Given the description of an element on the screen output the (x, y) to click on. 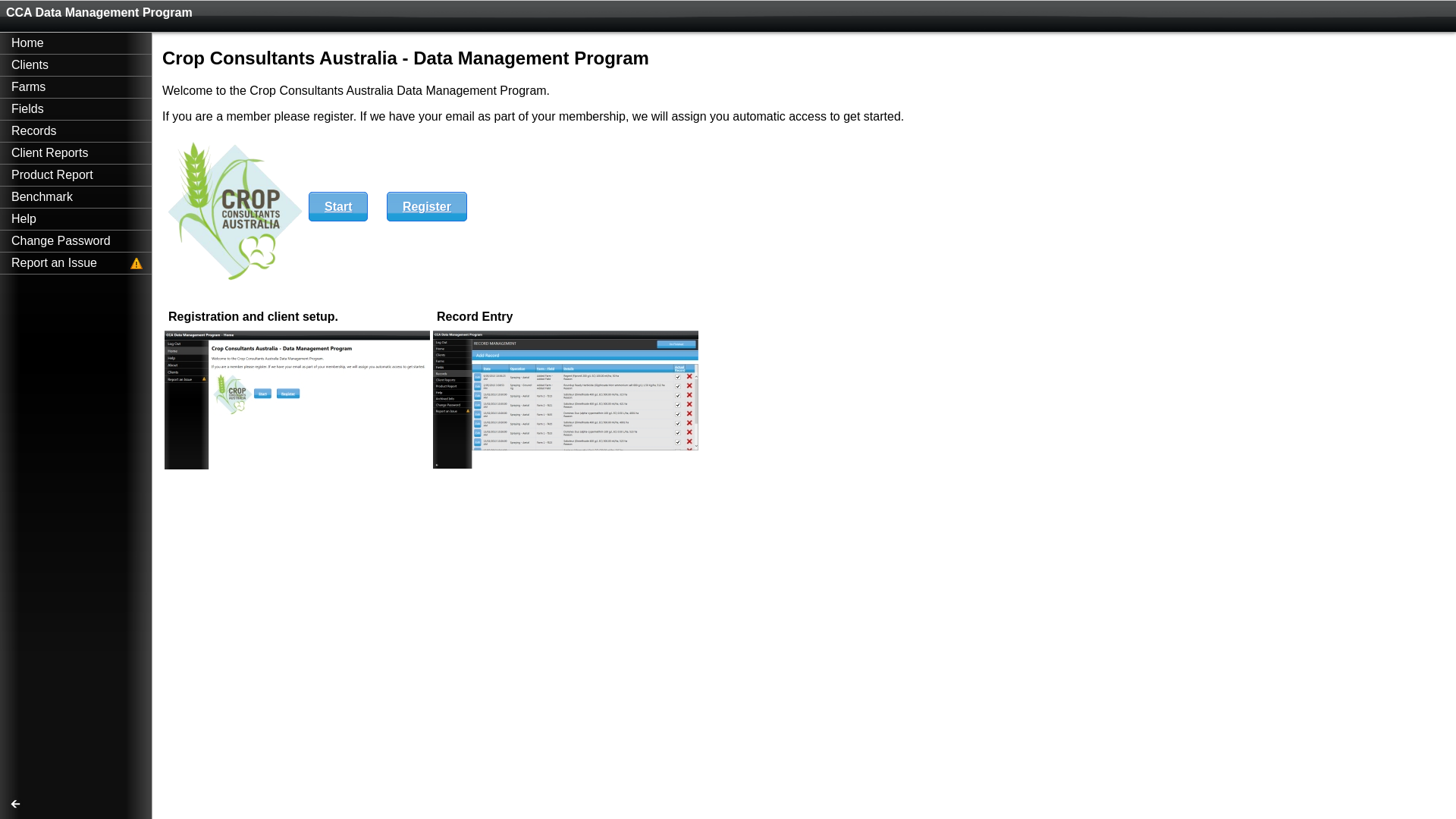
Start Element type: text (337, 206)
Fields Element type: text (75, 108)
Clients Element type: text (75, 64)
View how to register Element type: hover (565, 464)
Client Reports Element type: text (75, 152)
Register Element type: text (426, 206)
Change Password Element type: text (75, 240)
Help Element type: text (75, 218)
Benchmark Element type: text (75, 196)
Records Element type: text (75, 130)
Farms Element type: text (75, 86)
Home Element type: text (75, 42)
Product Report Element type: text (75, 174)
View how to register Element type: hover (296, 464)
